Given the description of an element on the screen output the (x, y) to click on. 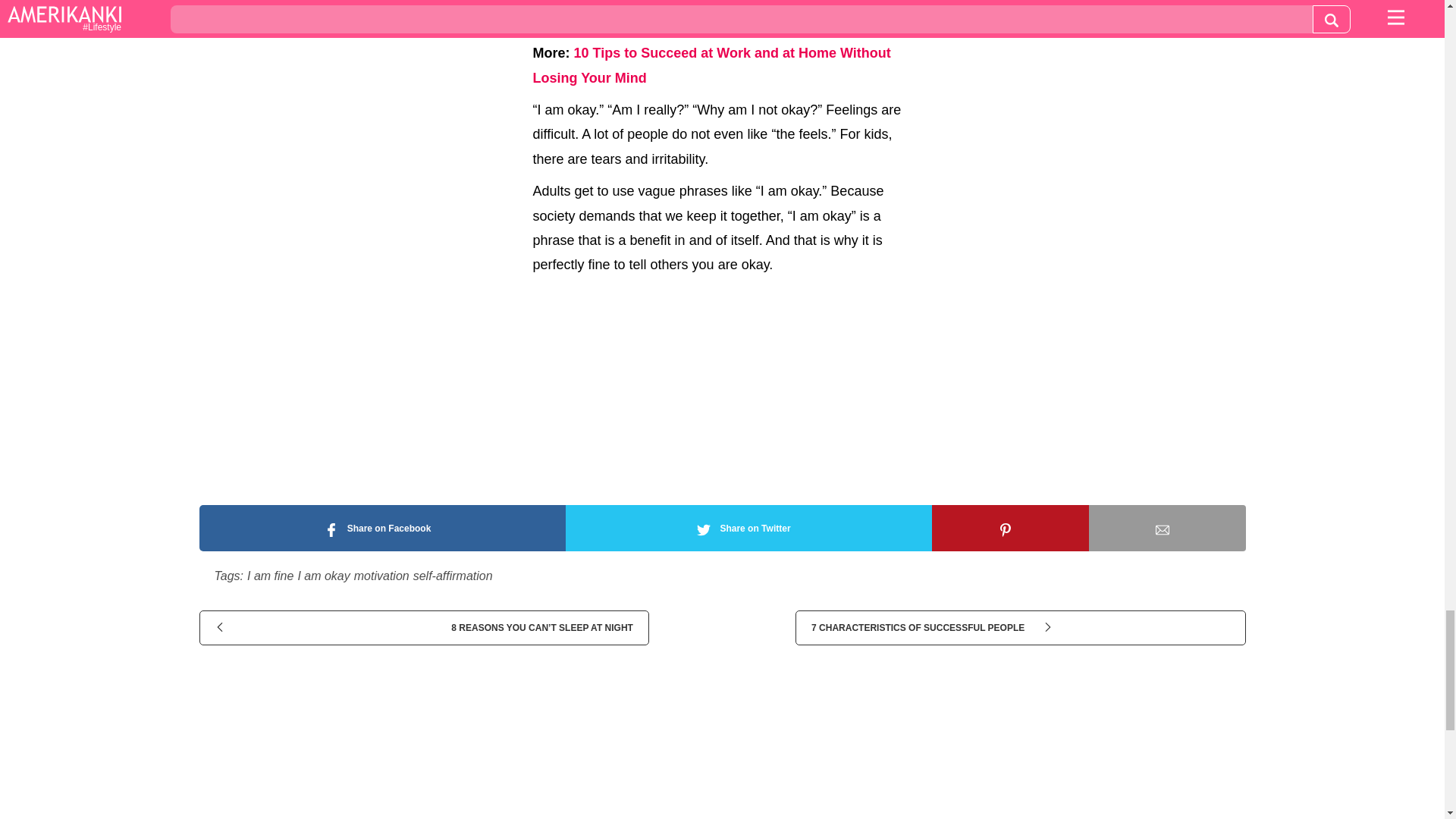
Share on Facebook (381, 528)
7 Characteristics of Successful People (1019, 627)
7 CHARACTERISTICS OF SUCCESSFUL PEOPLE (1019, 627)
Share on Twitter (748, 528)
